Given the description of an element on the screen output the (x, y) to click on. 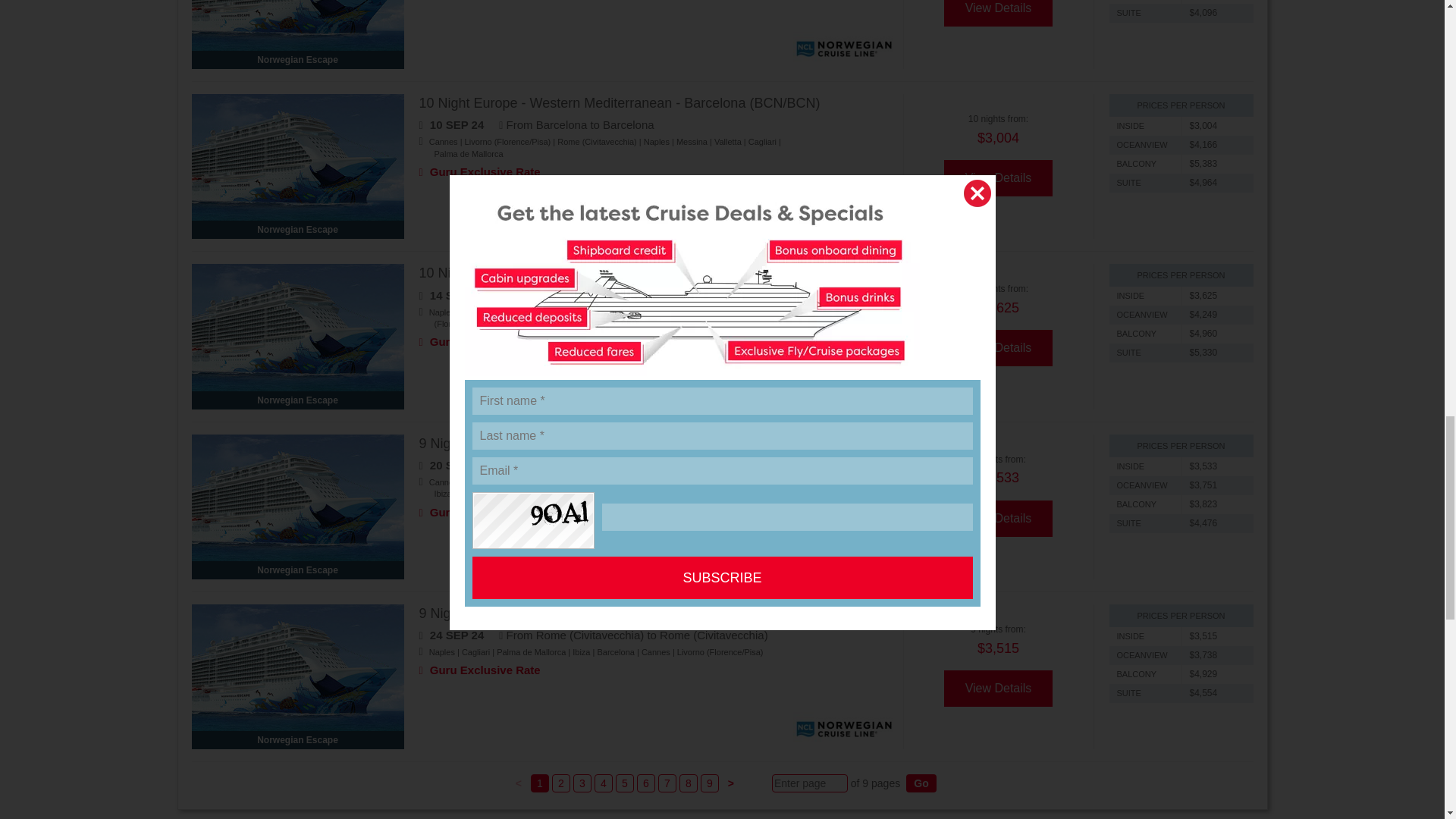
Norwegian Cruise Line (844, 218)
Go (920, 782)
Norwegian Cruise Line (844, 558)
Norwegian Cruise Line (844, 48)
Norwegian Cruise Line (844, 387)
Norwegian Cruise Line (844, 728)
